Given the description of an element on the screen output the (x, y) to click on. 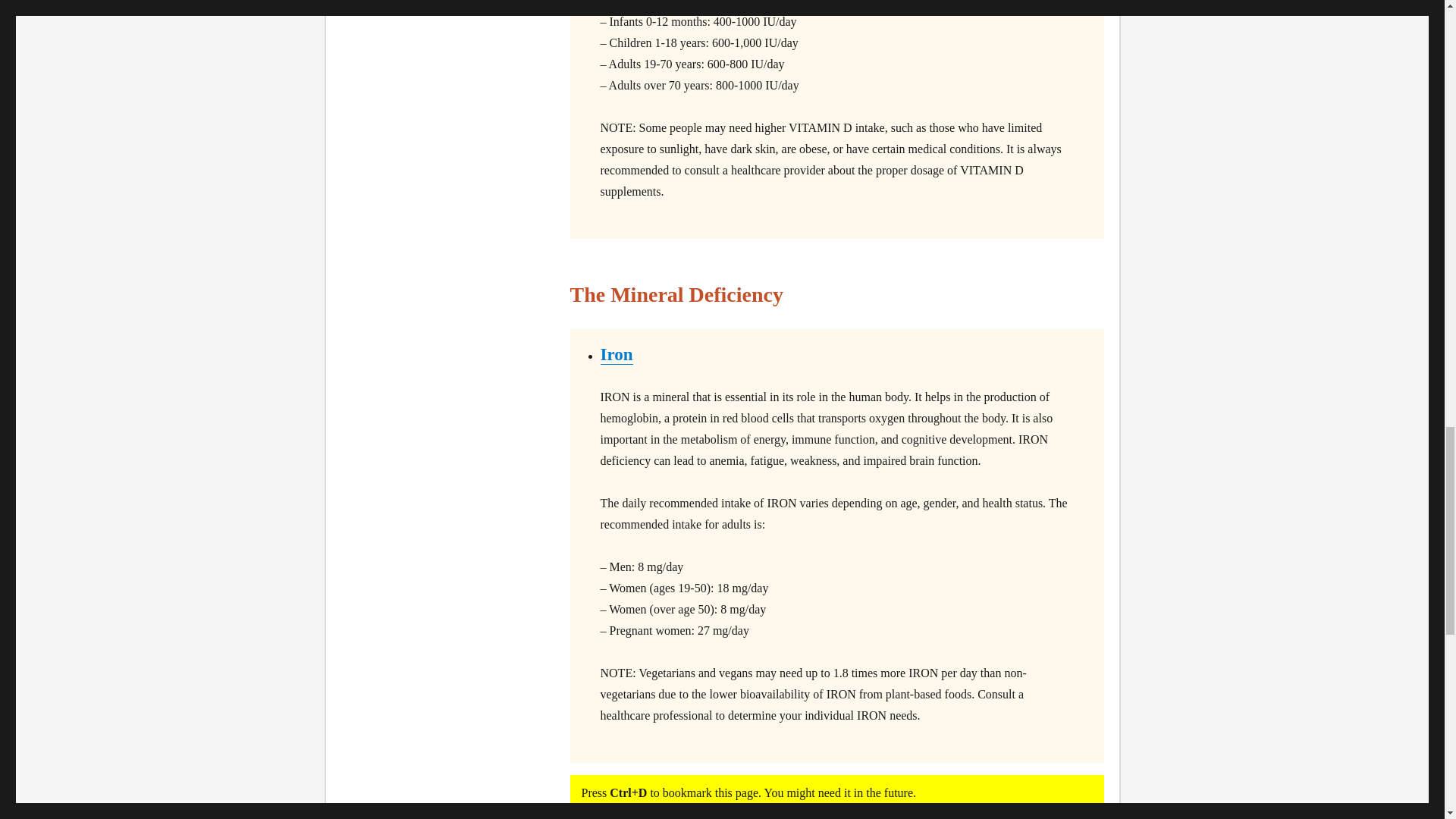
Iron (616, 353)
